Given the description of an element on the screen output the (x, y) to click on. 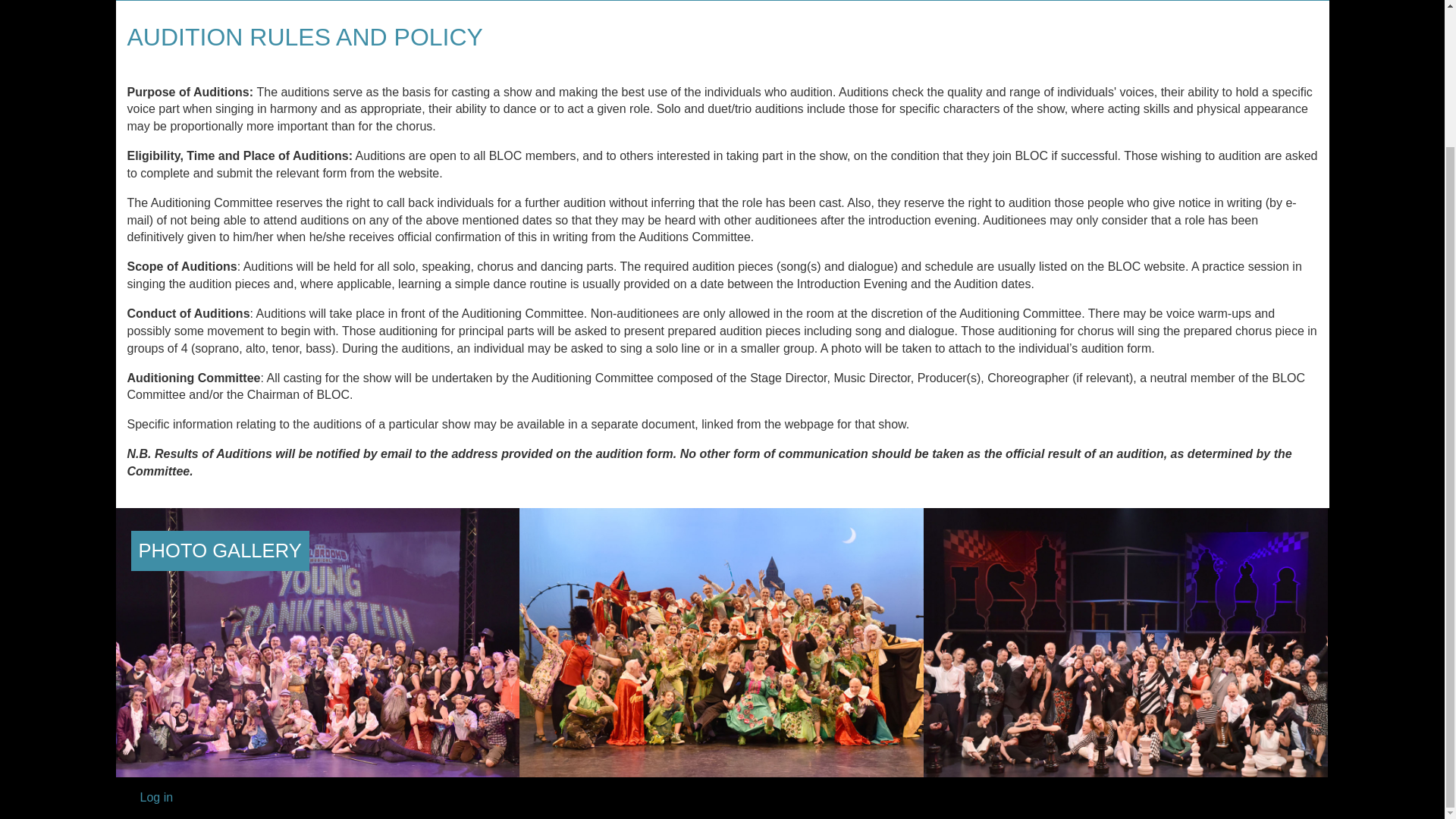
Other Brussels AmDram Companies (717, 0)
Log in (156, 797)
Links (717, 0)
Home (149, 0)
PHOTO GALLERY (219, 550)
